Given the description of an element on the screen output the (x, y) to click on. 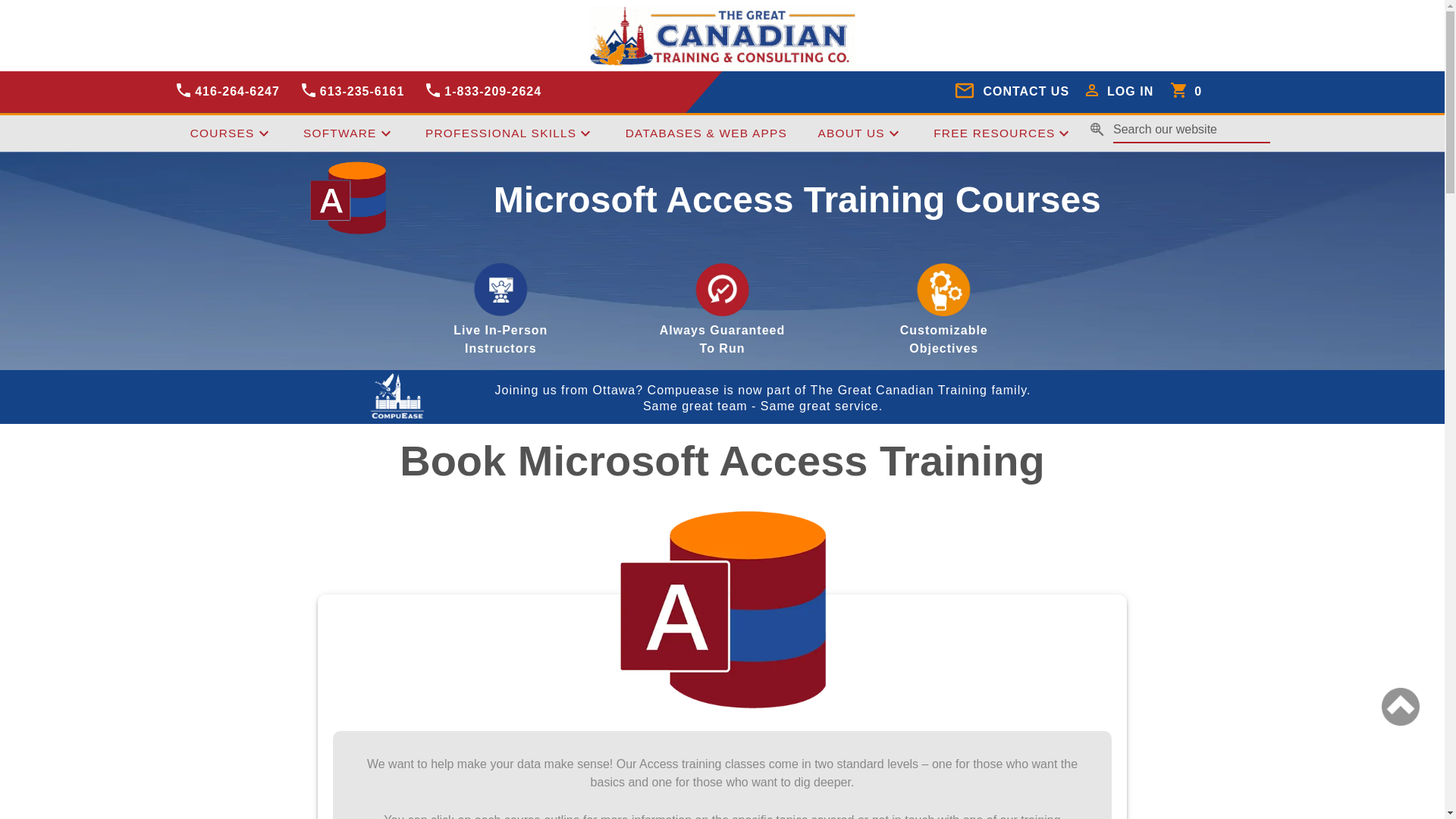
  416-264-6247 (226, 92)
LOG IN (1120, 92)
  613-235-6161 (351, 92)
CONTACT US (1012, 92)
  1-833-209-2624 (483, 92)
COURSES (230, 133)
